Given the description of an element on the screen output the (x, y) to click on. 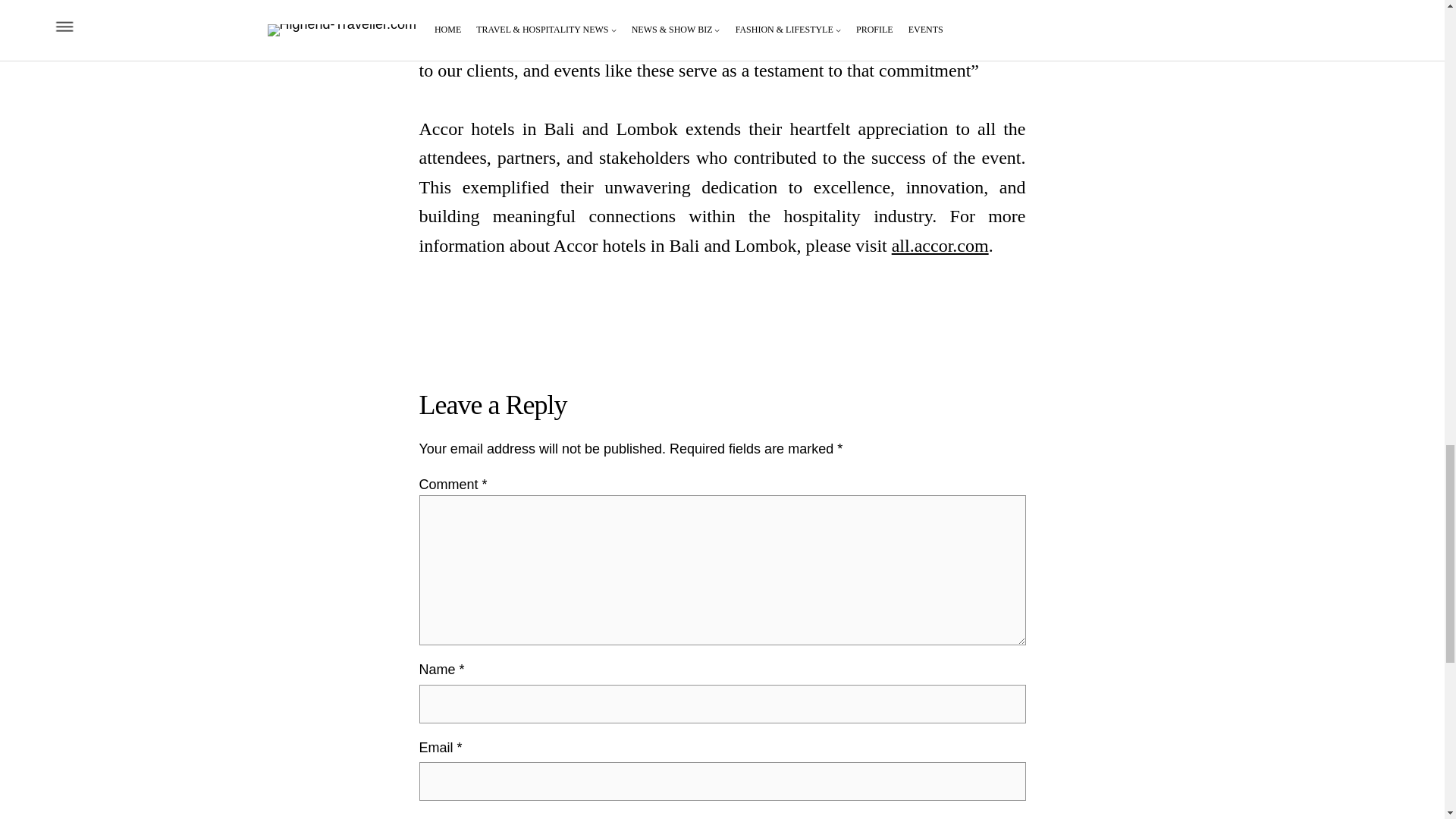
all.accor.com (939, 245)
